Given the description of an element on the screen output the (x, y) to click on. 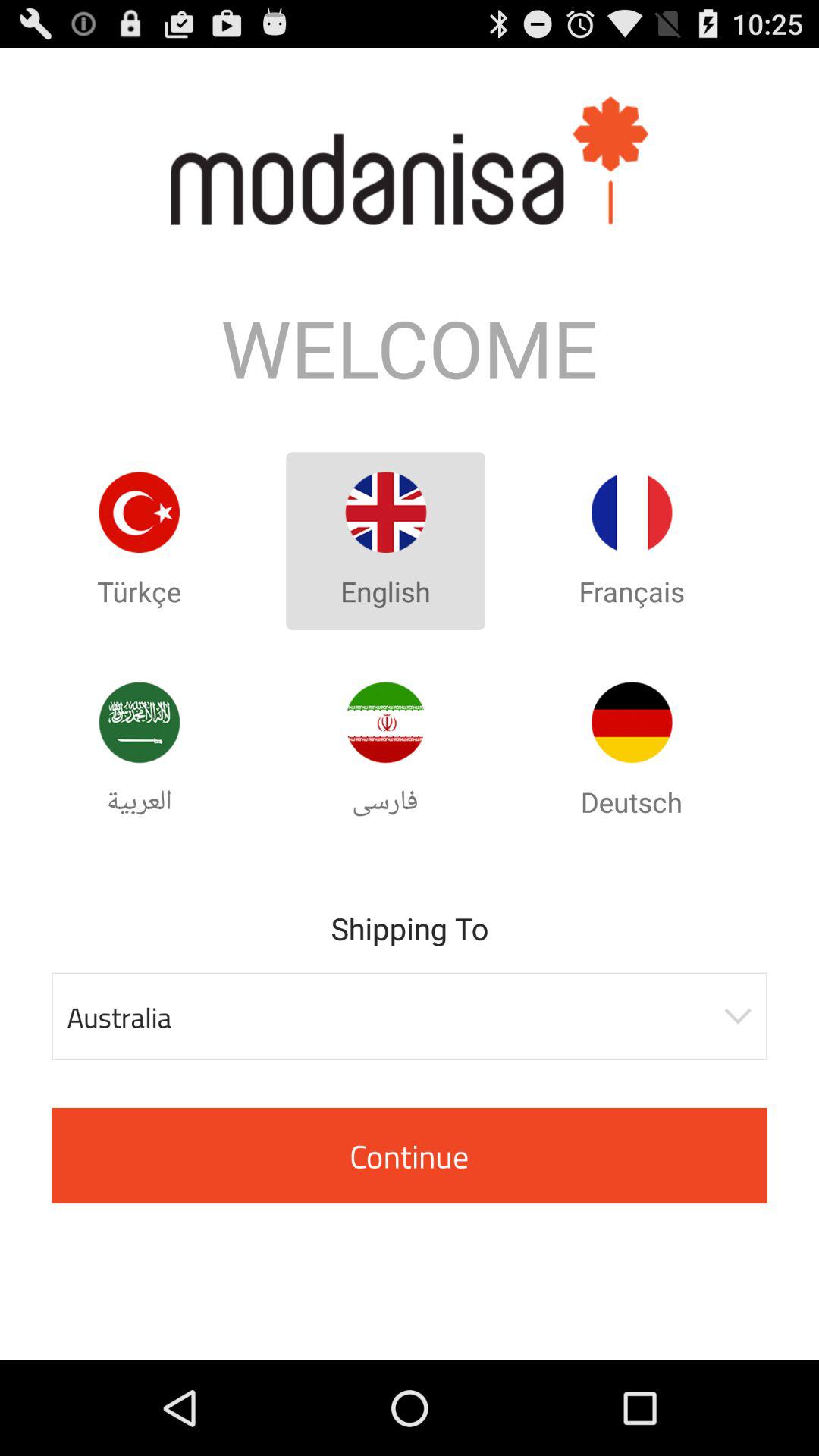
open the item below the shipping to app (409, 1016)
